Given the description of an element on the screen output the (x, y) to click on. 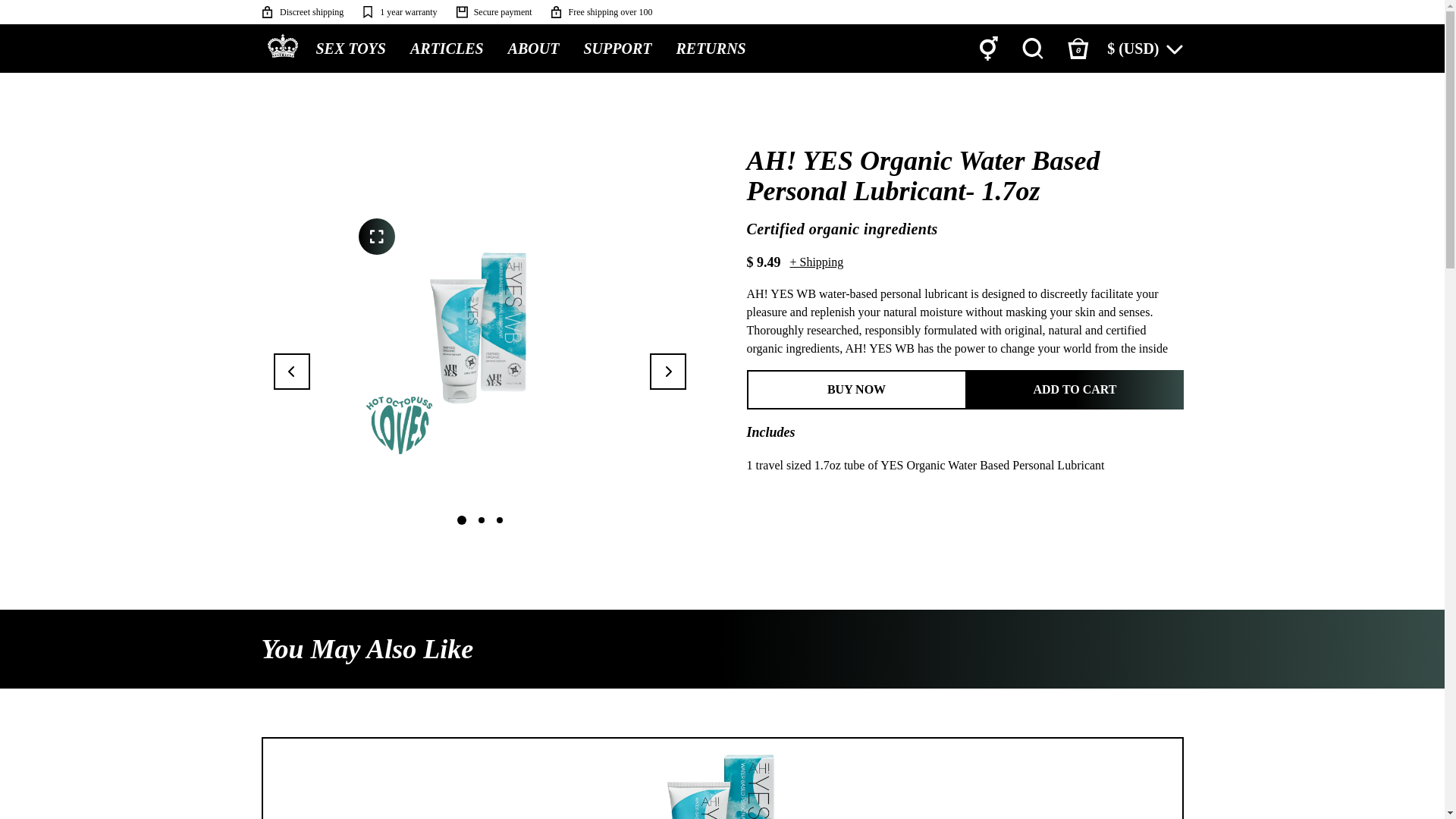
Discreet shipping (301, 12)
Free shipping over 100 (601, 12)
SUPPORT (616, 48)
Trustpilot (1159, 12)
Secure payment (492, 12)
ARTICLES (446, 48)
SEX TOYS (349, 48)
ARTICLES (446, 48)
1 year warranty (398, 12)
0 (1077, 48)
